Given the description of an element on the screen output the (x, y) to click on. 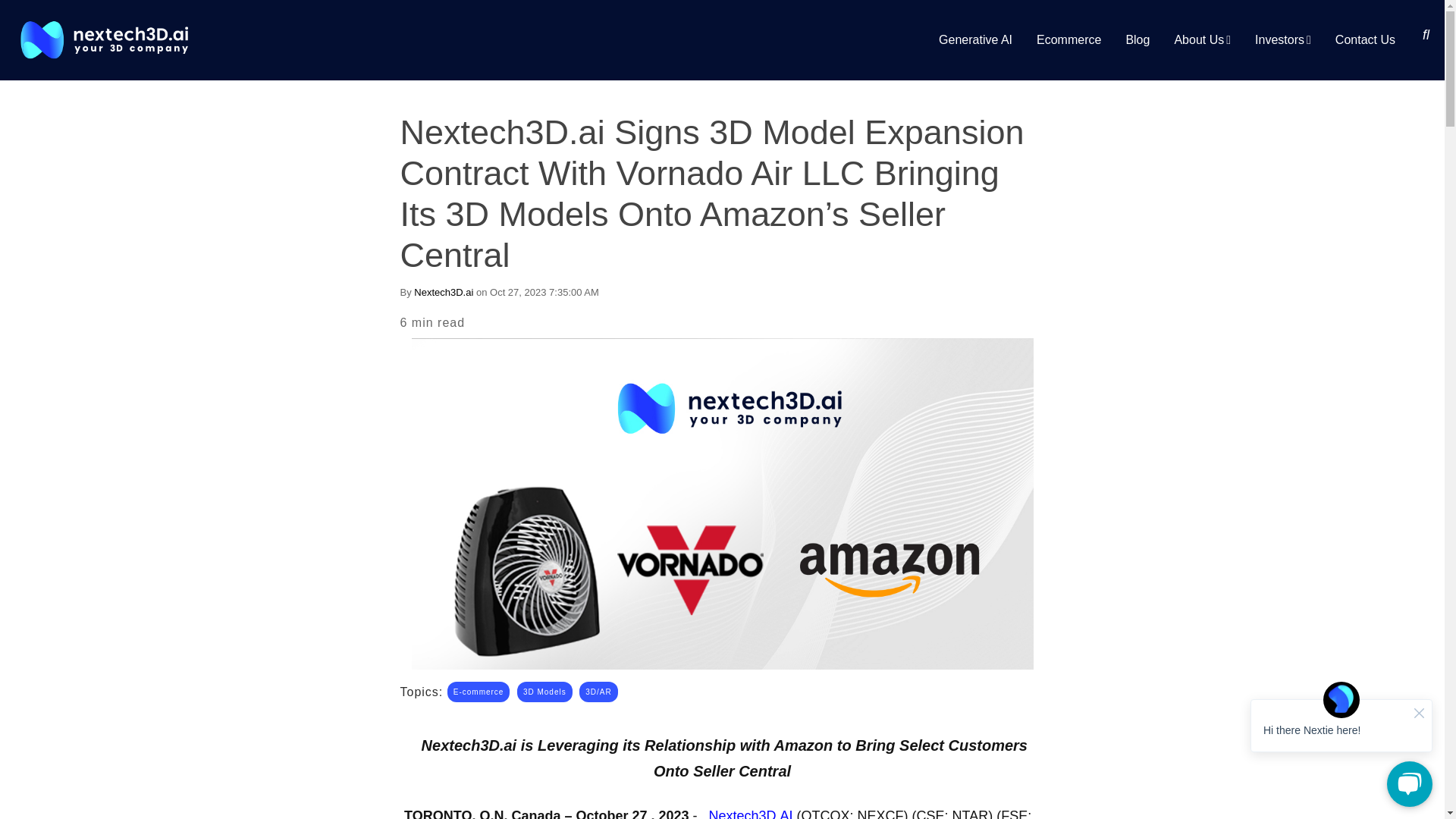
Investors (1283, 39)
Blog (1137, 39)
Generative AI (975, 39)
Contact Us (1365, 39)
About Us (1202, 39)
Ecommerce (1069, 39)
